Given the description of an element on the screen output the (x, y) to click on. 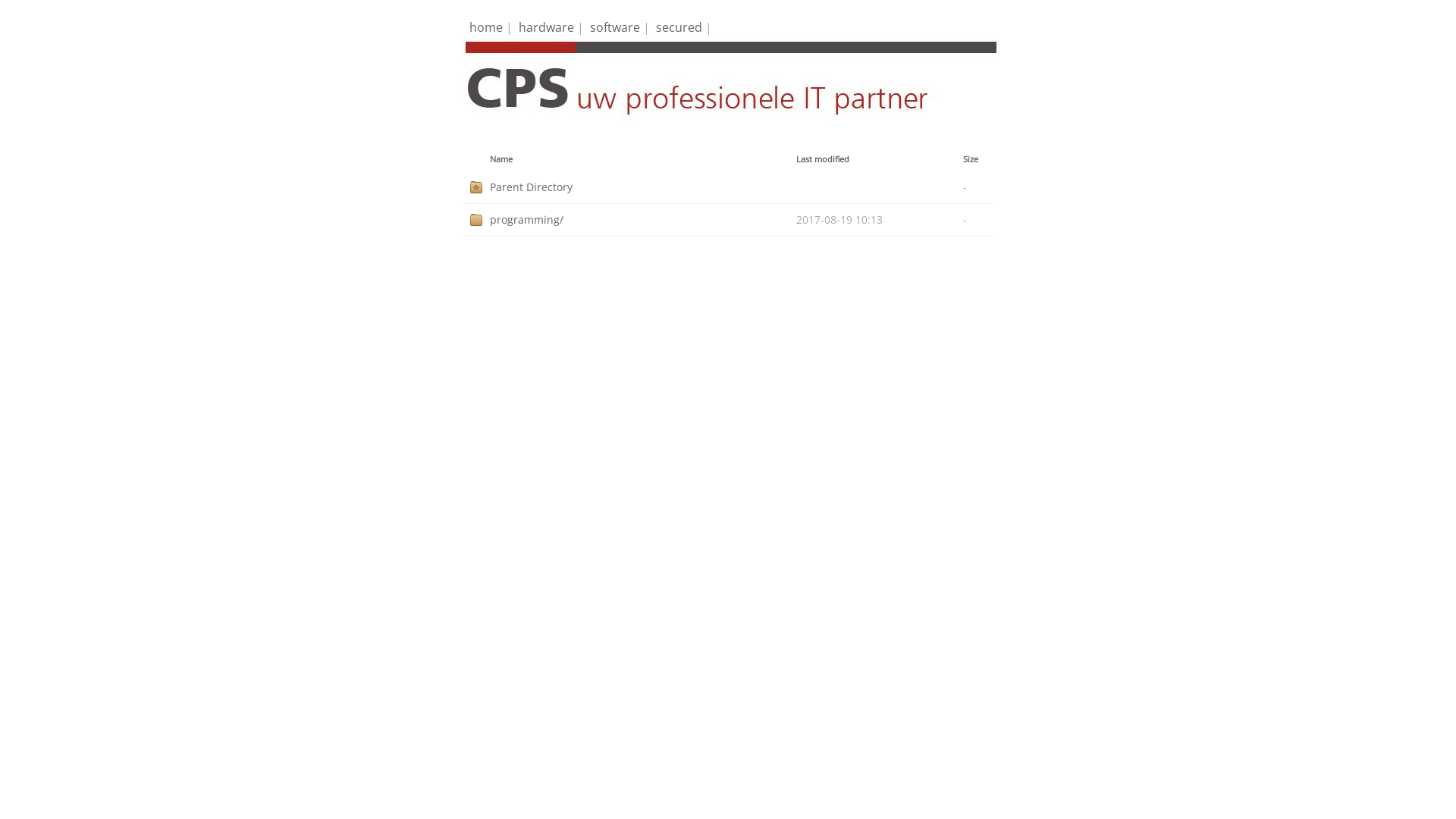
Parent Directory Element type: text (642, 187)
home Element type: text (485, 26)
secured Element type: text (678, 26)
software Element type: text (614, 26)
programming/ Element type: text (642, 219)
Size Element type: text (970, 158)
Last modified Element type: text (822, 158)
hardware Element type: text (546, 26)
Name Element type: text (500, 158)
